Given the description of an element on the screen output the (x, y) to click on. 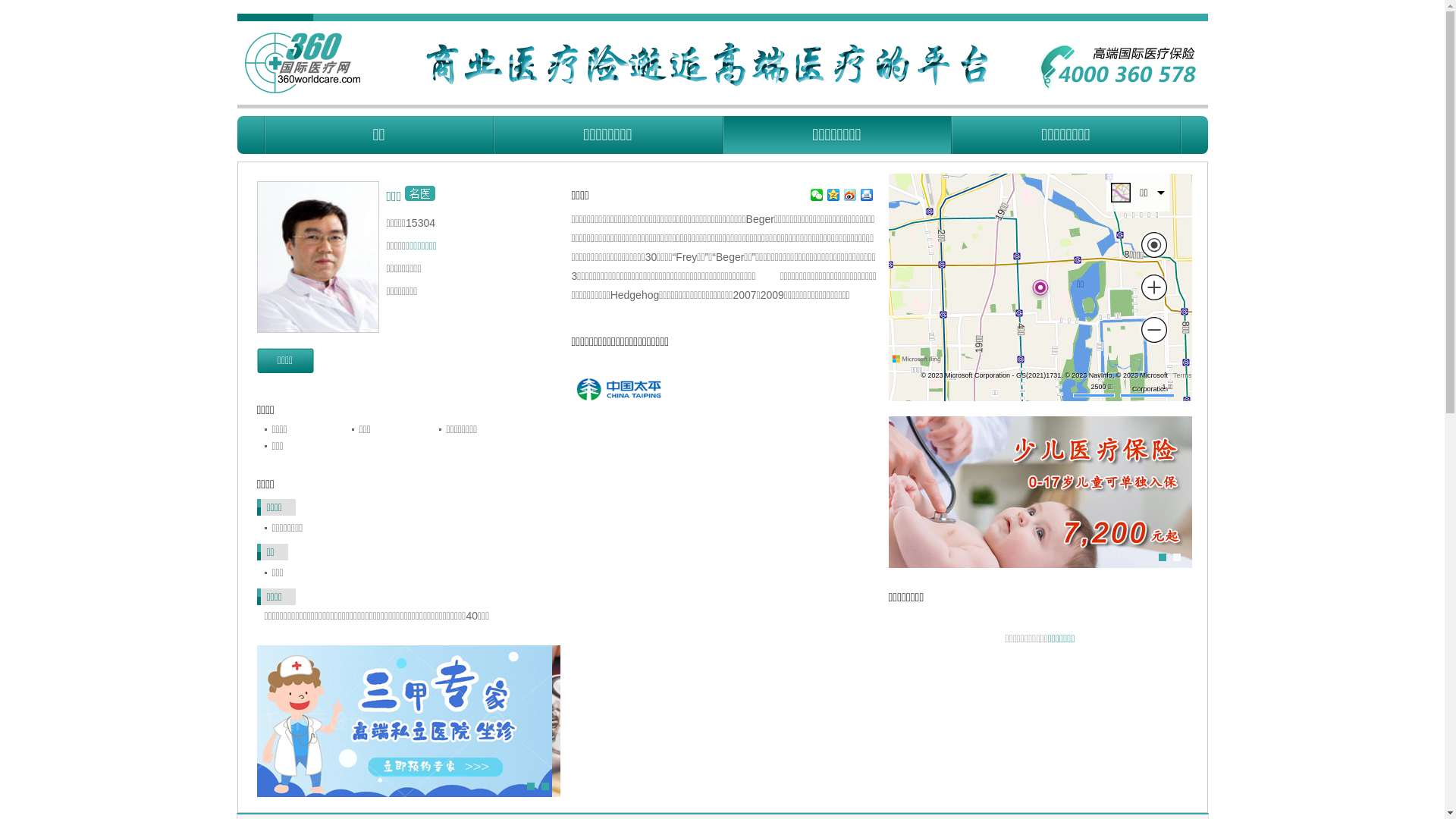
Terms Element type: text (1182, 375)
Microsoft Bing Element type: hover (917, 359)
